Given the description of an element on the screen output the (x, y) to click on. 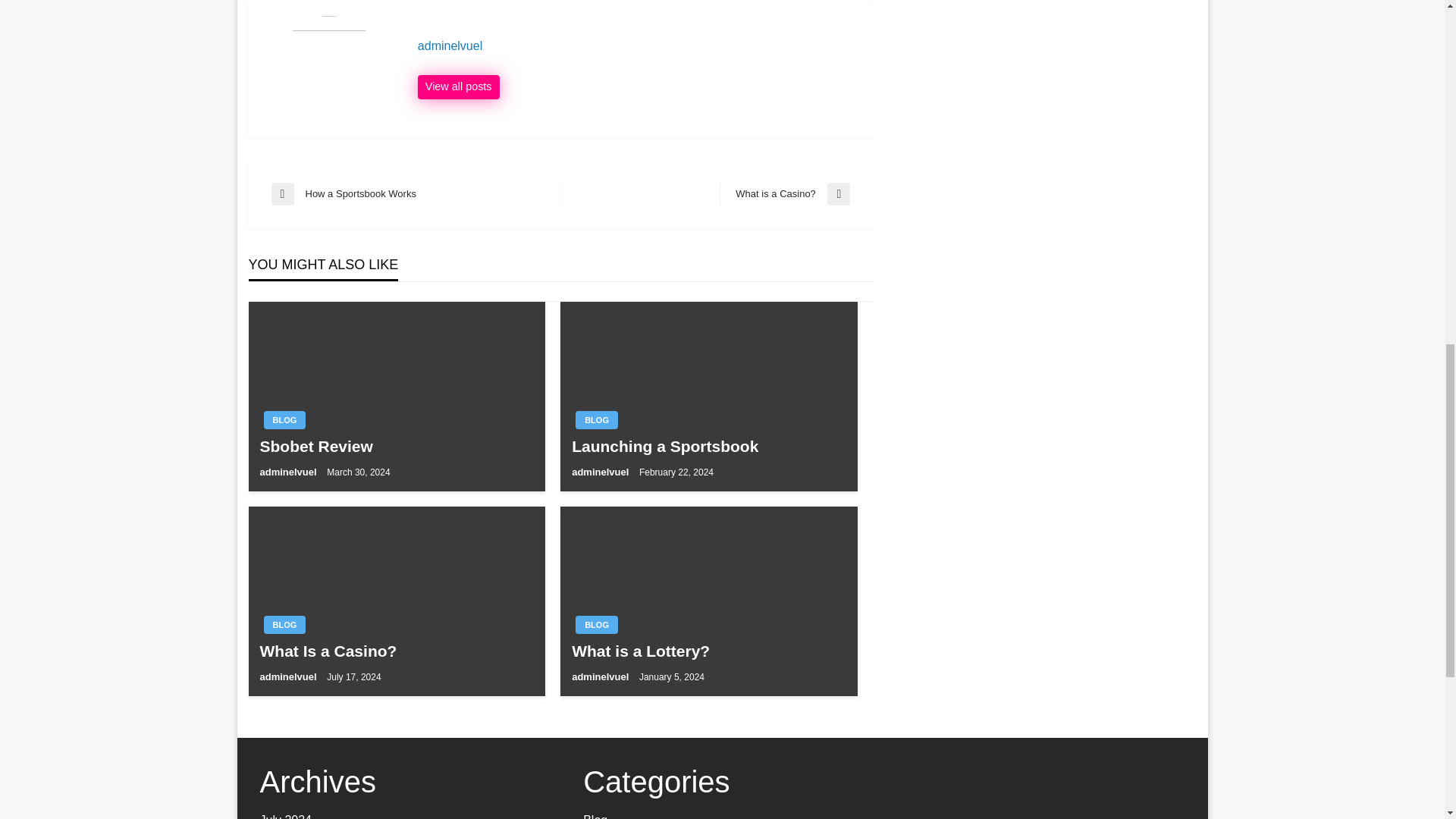
What Is a Casino? (396, 650)
adminelvuel (288, 471)
What is a Lottery? (708, 650)
adminelvuel (288, 676)
adminelvuel (637, 46)
adminelvuel (415, 193)
BLOG (637, 46)
July 2024 (284, 420)
adminelvuel (285, 816)
Sbobet Review (458, 87)
BLOG (396, 445)
Launching a Sportsbook (596, 420)
View all posts (784, 193)
